Given the description of an element on the screen output the (x, y) to click on. 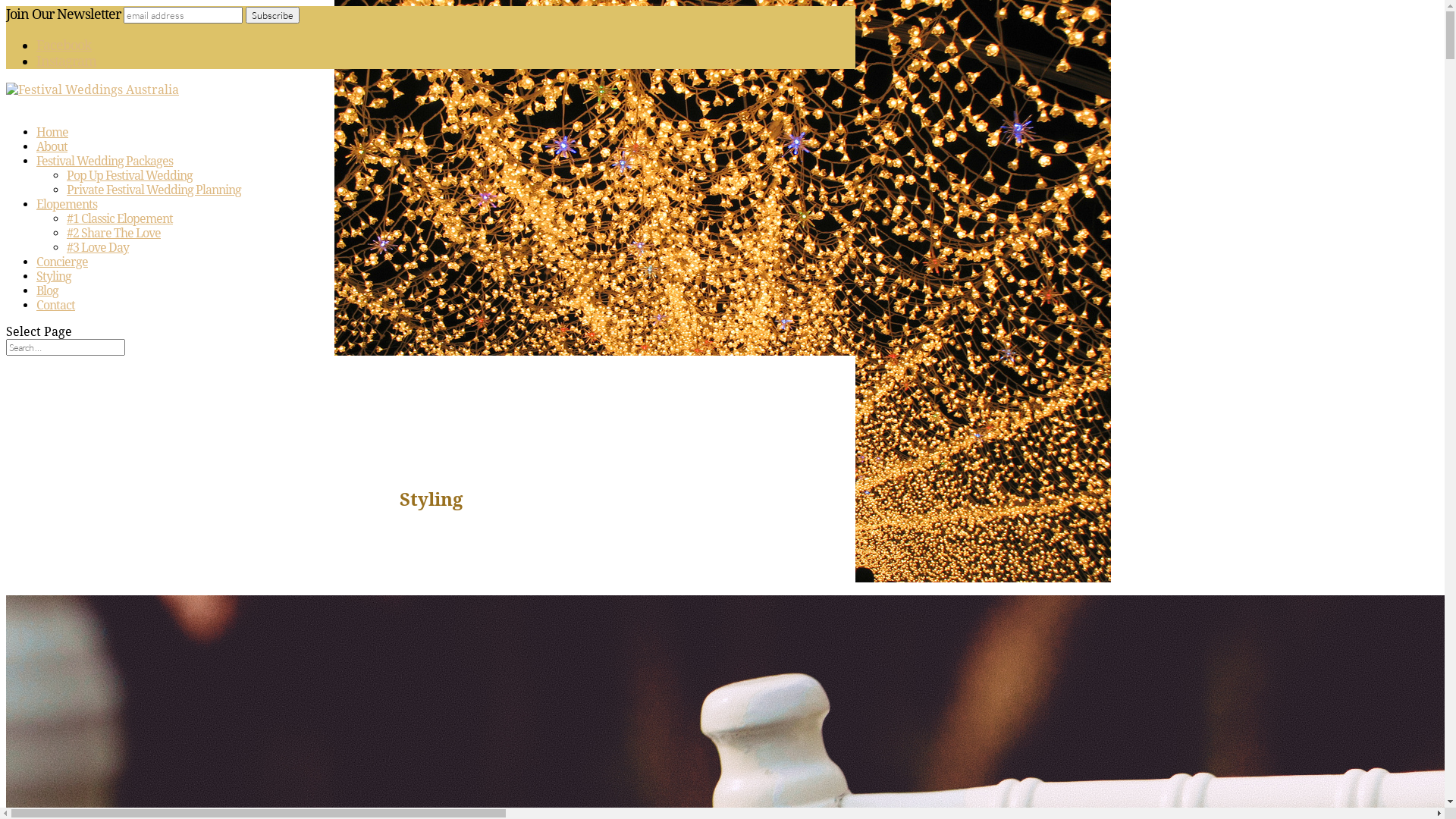
Instagram Element type: text (66, 61)
Blog Element type: text (47, 298)
Elopements Element type: text (66, 212)
About Element type: text (51, 154)
Search for: Element type: hover (65, 346)
#2 Share The Love Element type: text (113, 232)
Concierge Element type: text (61, 269)
Private Festival Wedding Planning Element type: text (153, 189)
Pop Up Festival Wedding Element type: text (129, 175)
Contact Element type: text (55, 313)
Facebook Element type: text (63, 45)
Festival Wedding Packages Element type: text (104, 168)
Styling Element type: text (53, 284)
#3 Love Day Element type: text (97, 247)
#1 Classic Elopement Element type: text (119, 218)
Home Element type: text (52, 140)
Subscribe Element type: text (272, 14)
